Given the description of an element on the screen output the (x, y) to click on. 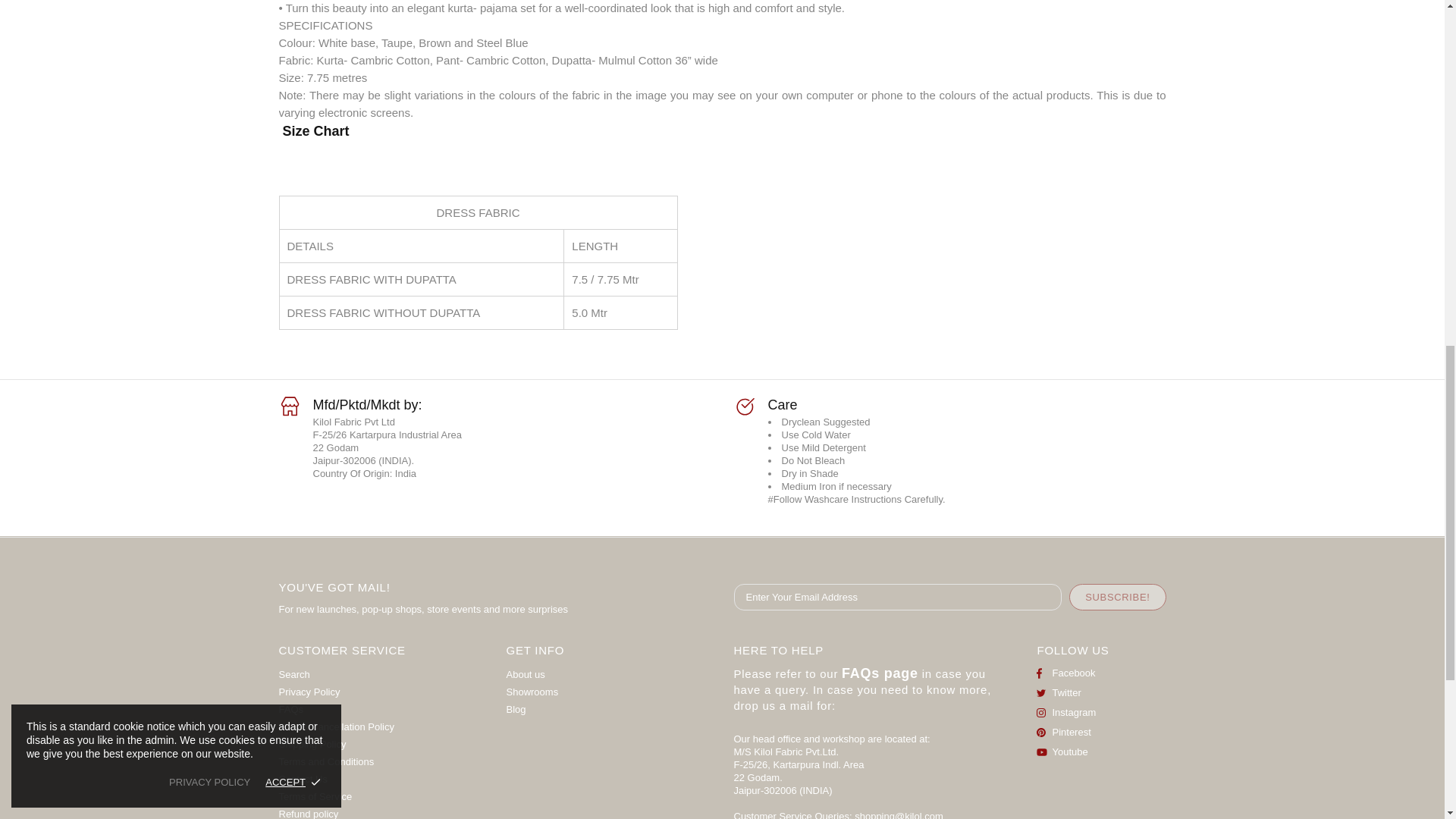
SUBSCRIBE! (1117, 596)
